Given the description of an element on the screen output the (x, y) to click on. 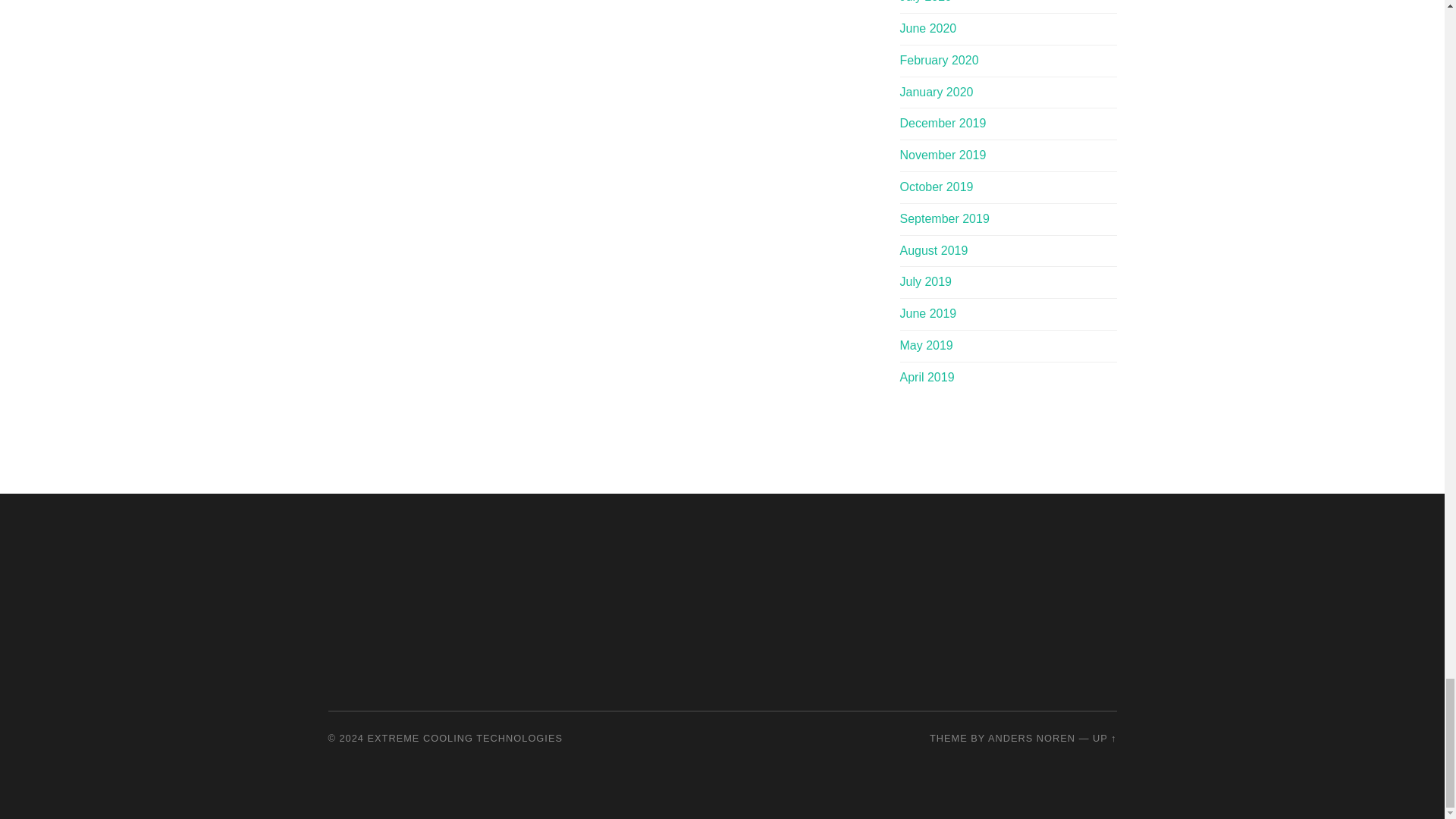
To the top (1104, 737)
